Given the description of an element on the screen output the (x, y) to click on. 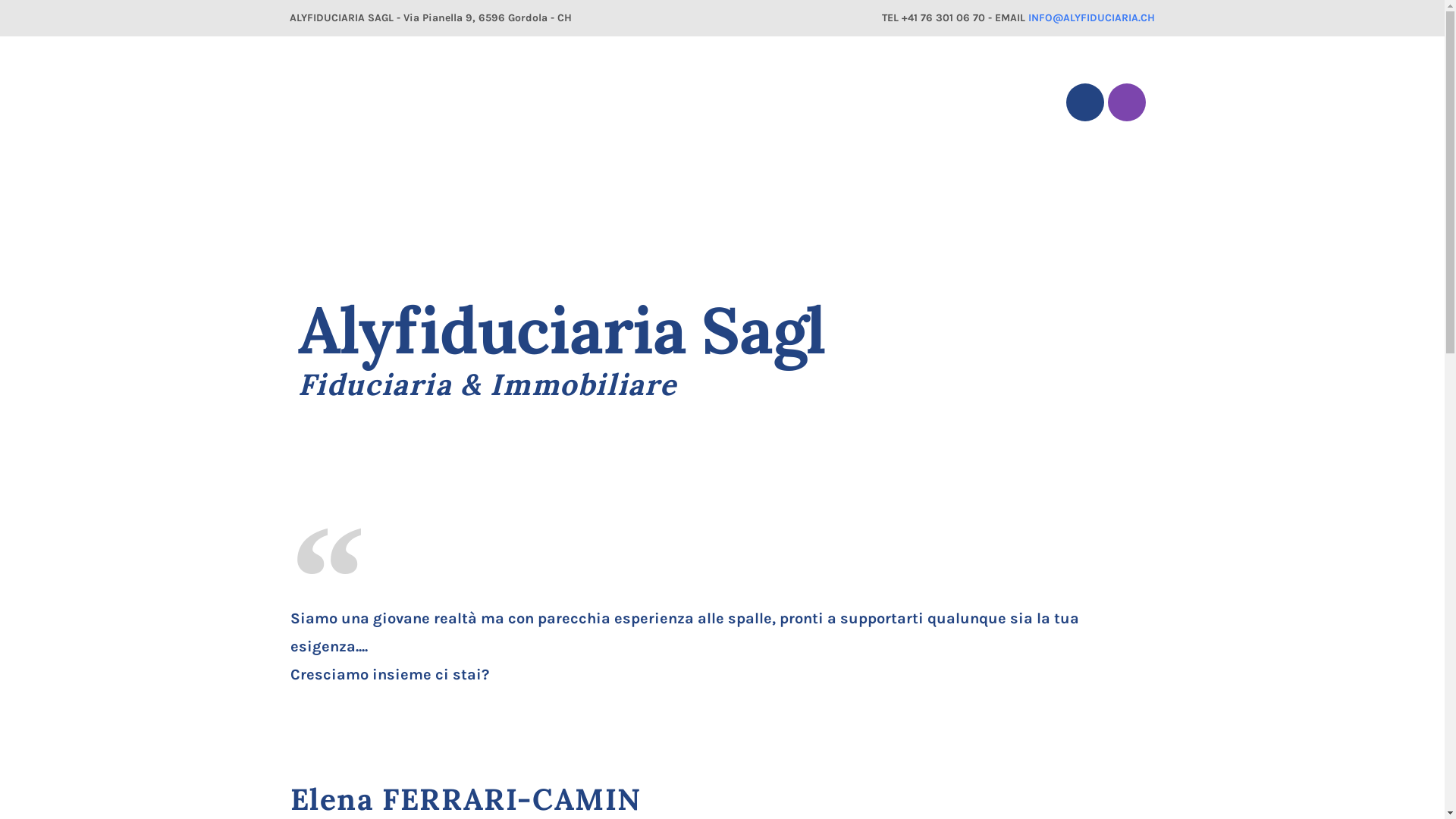
Facebook Element type: text (1085, 102)
Instagram Element type: text (1126, 102)
INFO@ALYFIDUCIARIA.CH Element type: text (1091, 16)
